Given the description of an element on the screen output the (x, y) to click on. 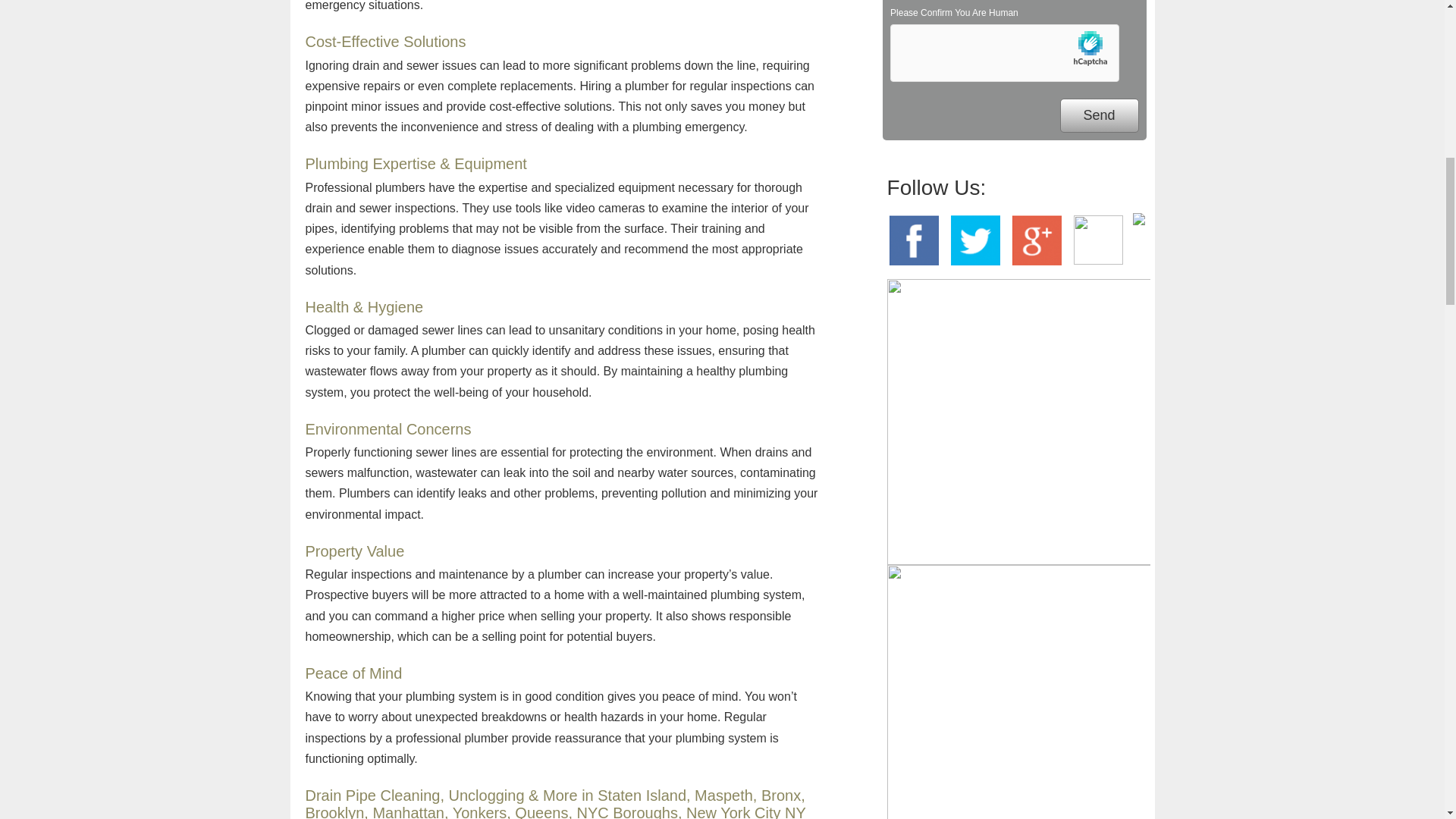
Send (1098, 115)
Send (1098, 115)
